Given the description of an element on the screen output the (x, y) to click on. 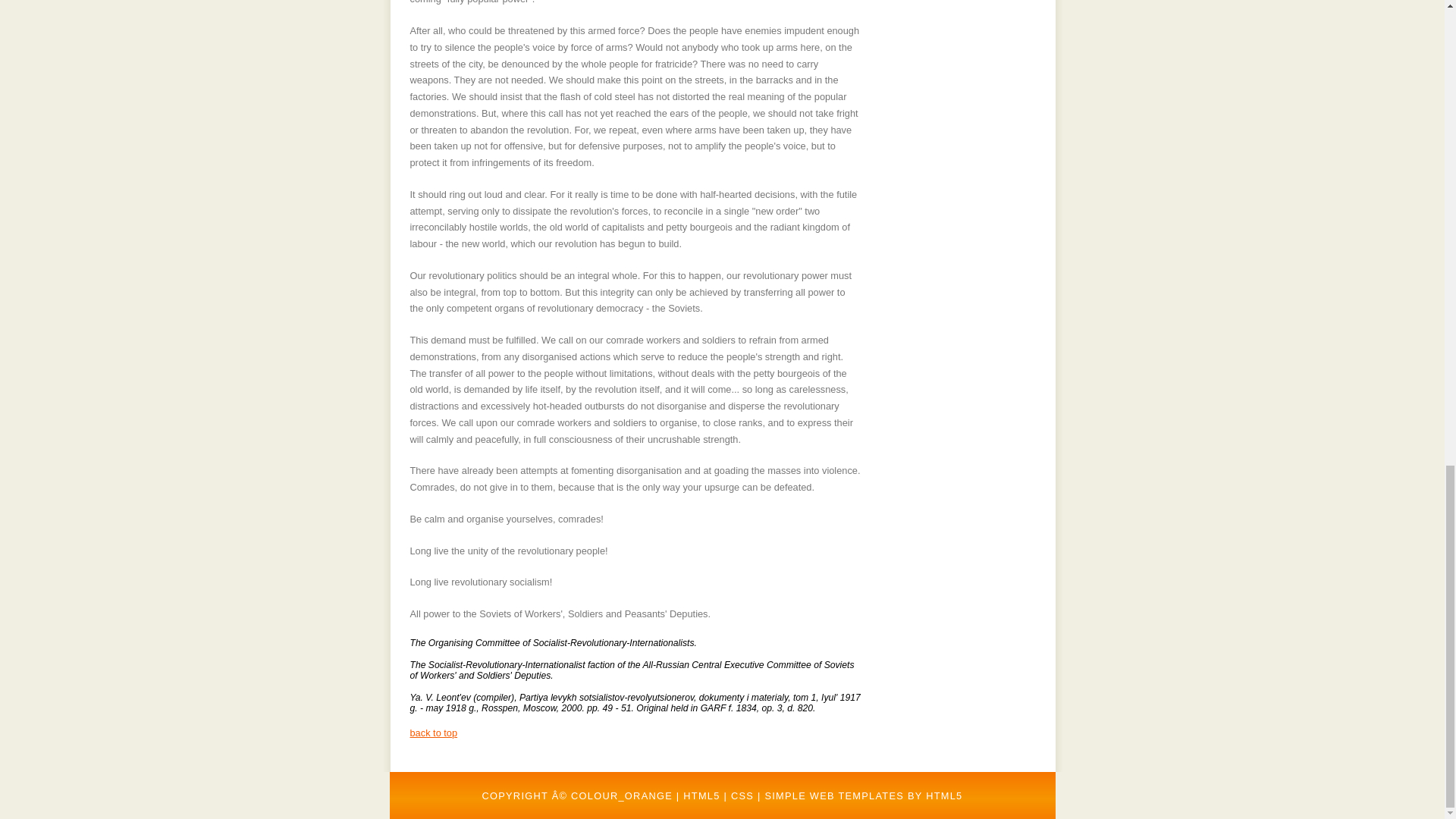
back to top (433, 732)
HTML5 (700, 794)
SIMPLE WEB TEMPLATES BY HTML5 (863, 794)
CSS (742, 794)
